Given the description of an element on the screen output the (x, y) to click on. 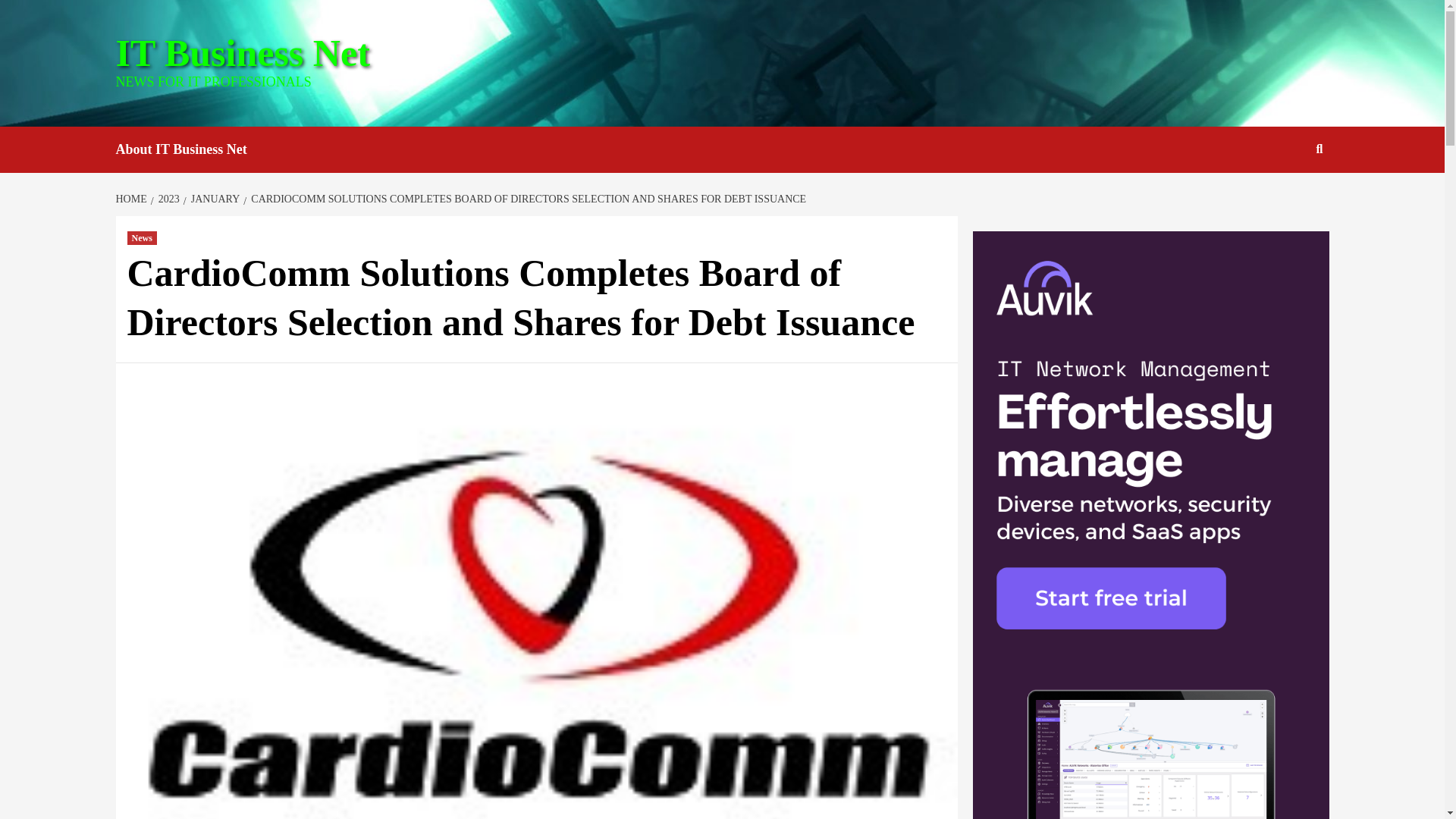
HOME (132, 198)
About IT Business Net (192, 149)
2023 (167, 198)
IT Business Net (242, 52)
Search (1283, 197)
JANUARY (213, 198)
News (142, 237)
